Given the description of an element on the screen output the (x, y) to click on. 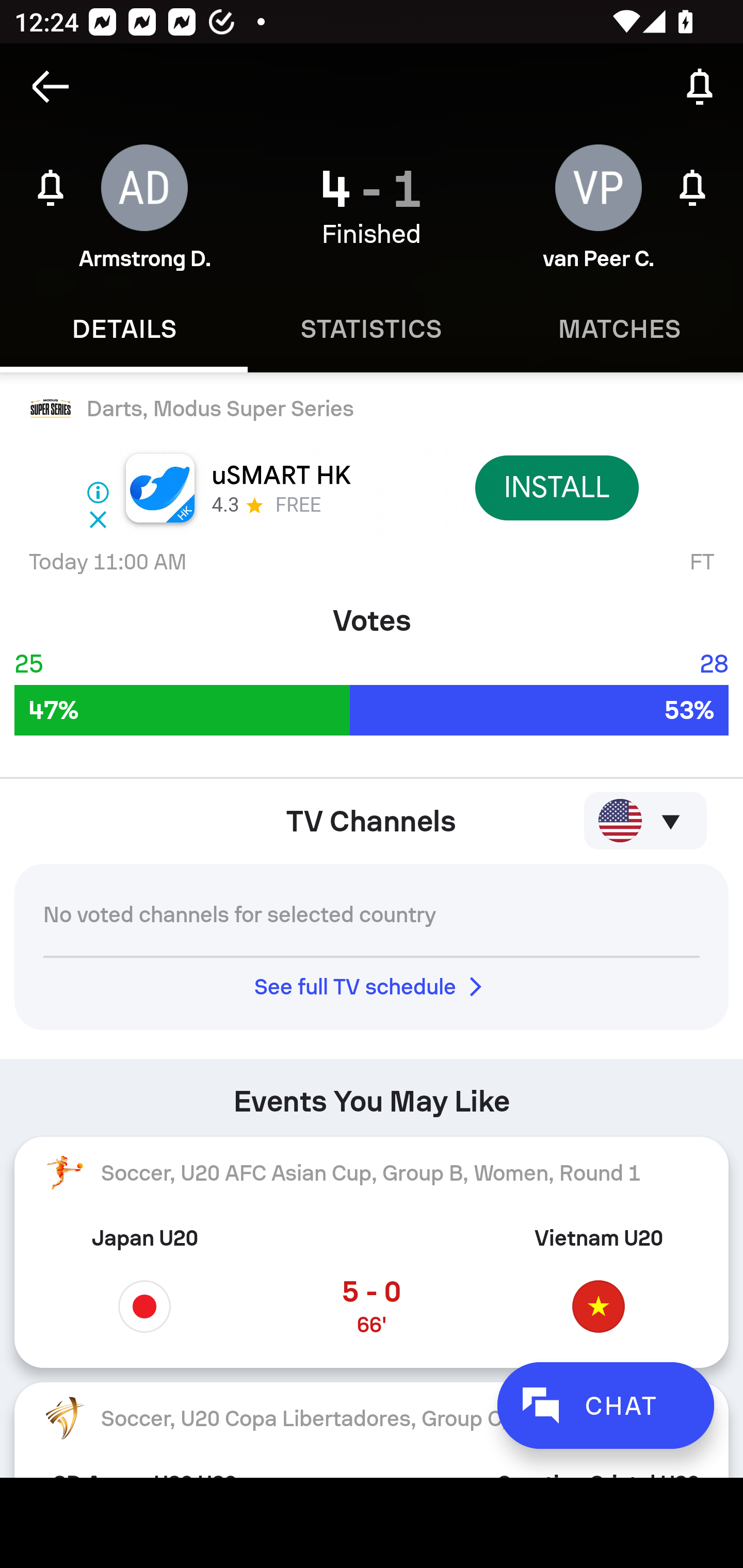
Navigate up (50, 86)
Statistics STATISTICS (371, 329)
Matches MATCHES (619, 329)
Darts, Modus Super Series (371, 409)
INSTALL (556, 487)
uSMART HK (280, 475)
See full TV schedule (371, 987)
Events You May Like (371, 1093)
Soccer, U20 AFC Asian Cup, Group B, Women, Round 1 (371, 1172)
CHAT (605, 1405)
